Given the description of an element on the screen output the (x, y) to click on. 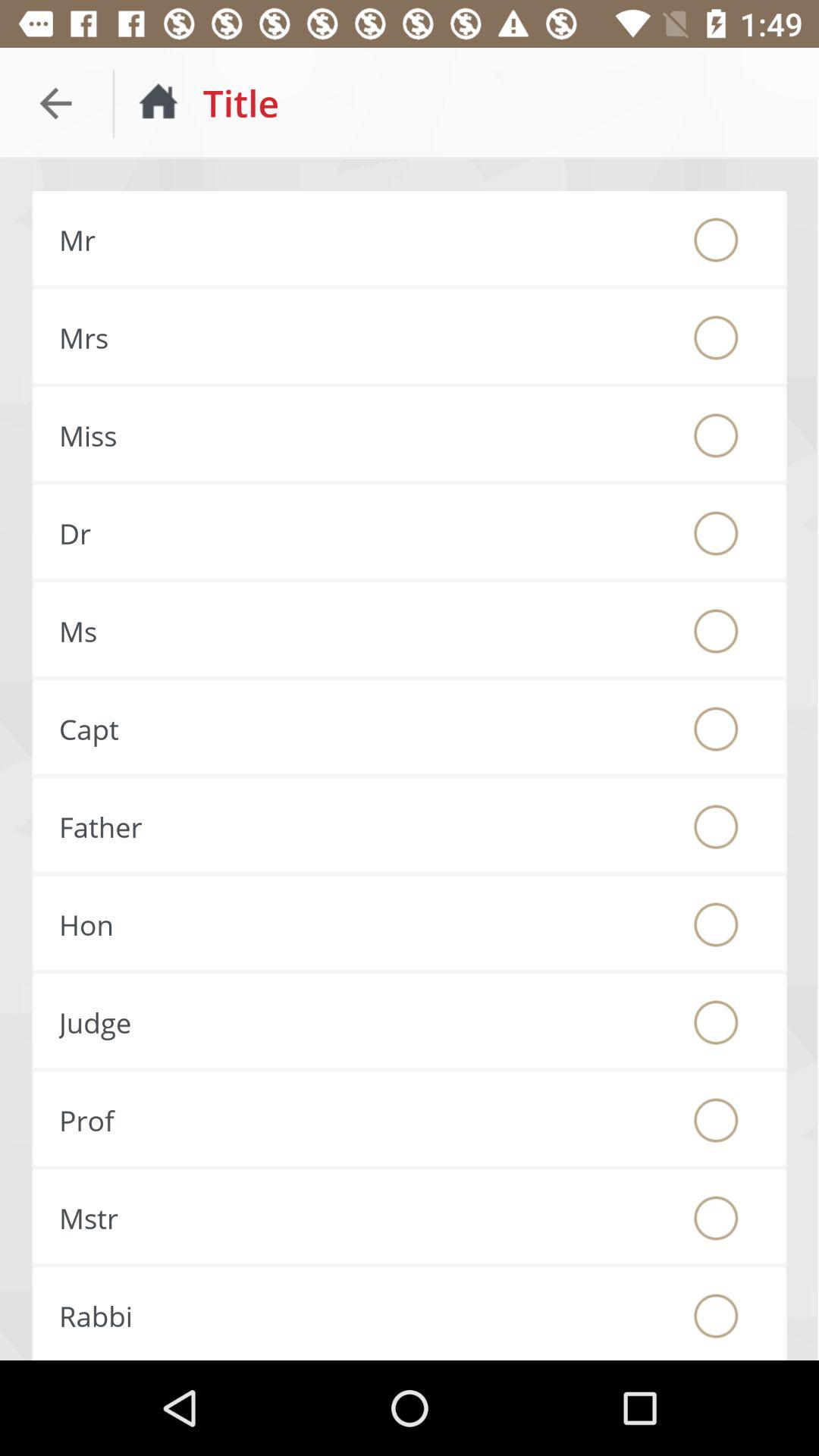
select mr as prefix (715, 239)
